Given the description of an element on the screen output the (x, y) to click on. 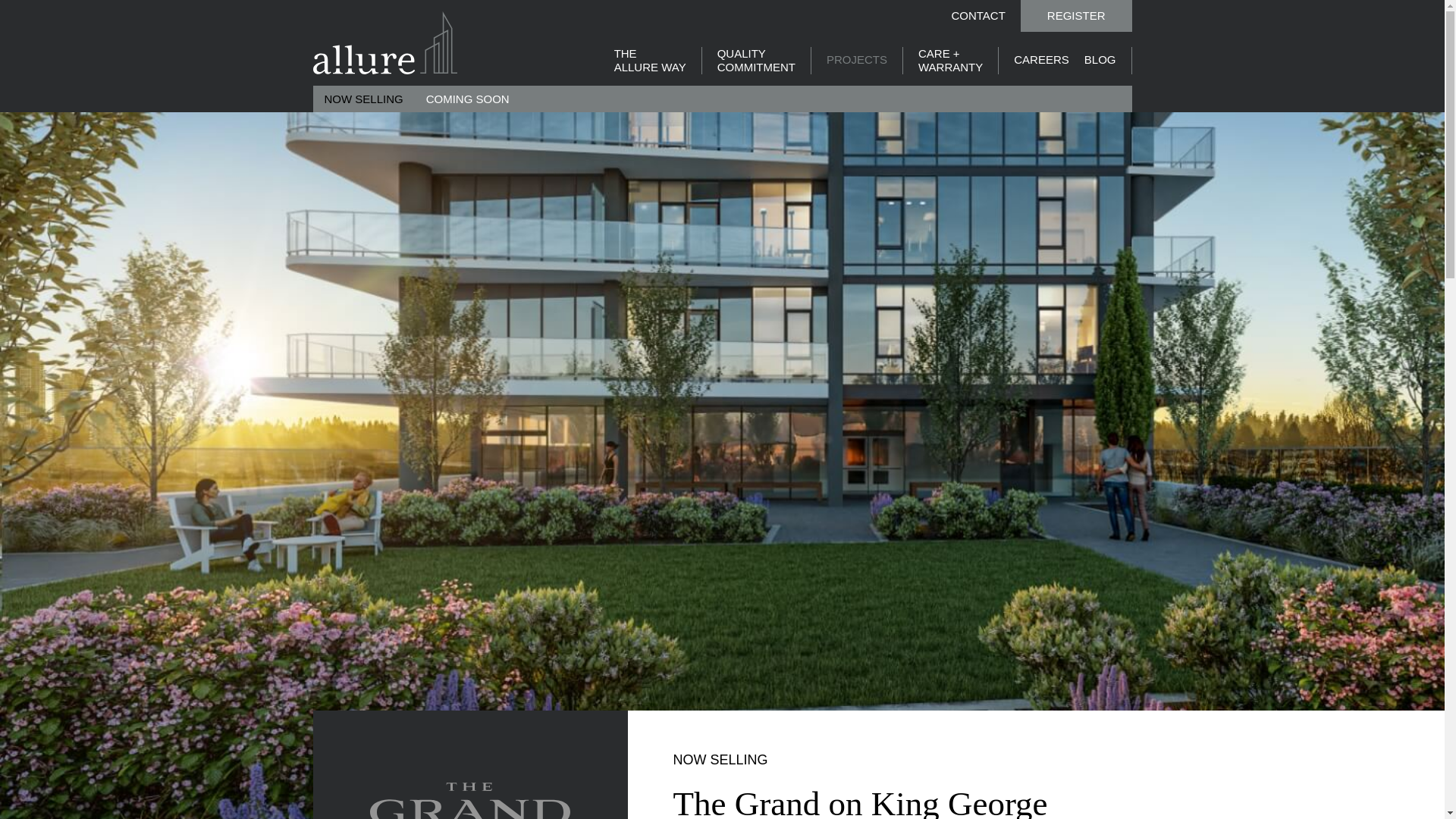
NOW SELLING (363, 98)
PROJECTS (856, 59)
CONTACT (977, 14)
COMING SOON (467, 98)
THE ALLURE WAY (649, 60)
Quality Commitment (755, 60)
Projects (856, 59)
REGISTER (1076, 15)
Blog (1100, 59)
Careers (1040, 59)
BLOG (1100, 59)
QUALITY COMMITMENT (755, 60)
CAREERS (1040, 59)
